Given the description of an element on the screen output the (x, y) to click on. 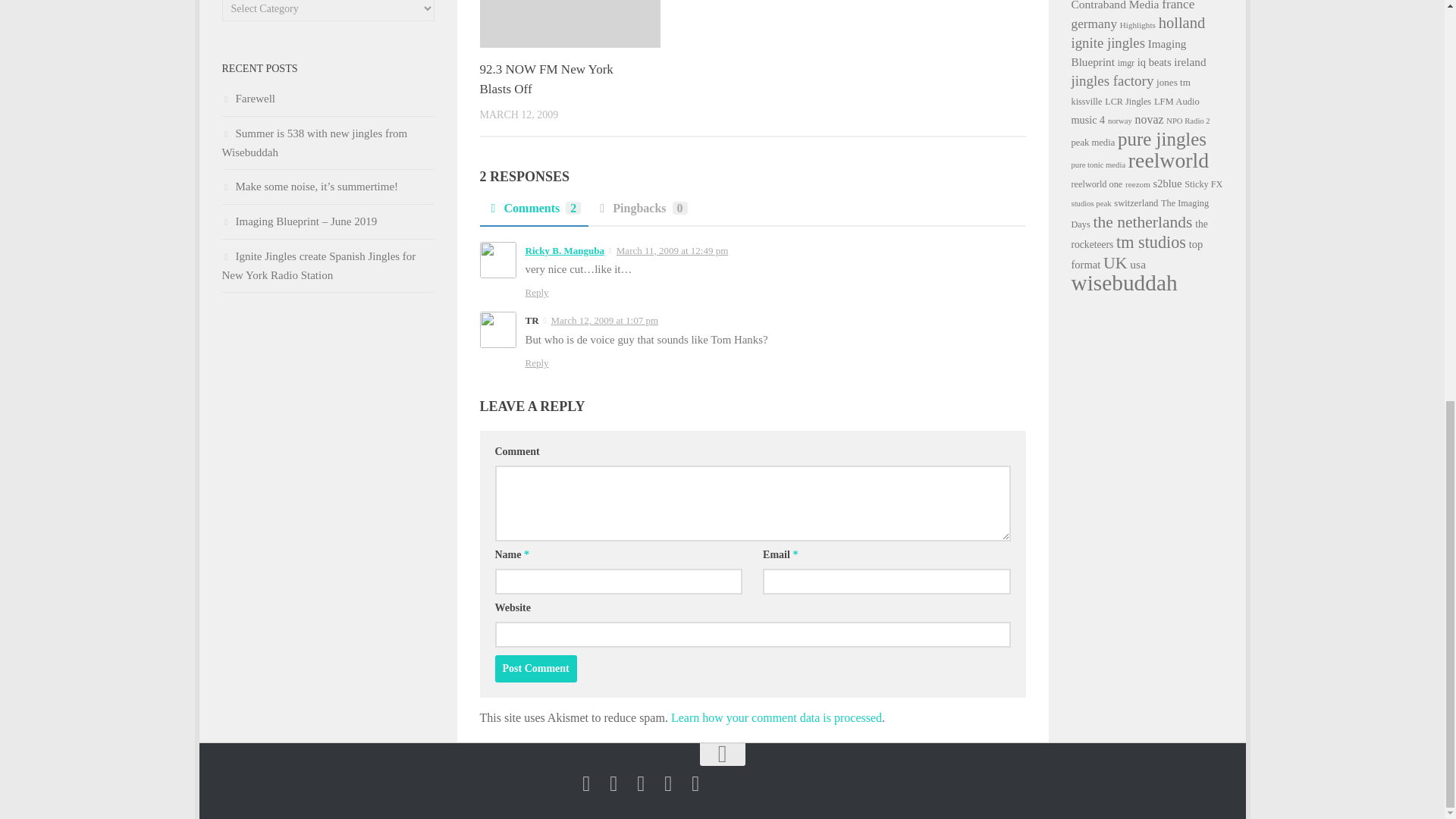
Reply (536, 362)
Comments2 (533, 212)
92.3 NOW FM New York Blasts Off (545, 79)
Ricky B. Manguba (564, 250)
Permalink to 92.3 NOW FM New York Blasts Off (545, 79)
Follow us on Twitter-square (613, 783)
Post Comment (535, 668)
Post Comment (535, 668)
March 11, 2009 at 12:49 pm (672, 250)
Reply (536, 292)
Learn how your comment data is processed (776, 717)
March 12, 2009 at 1:07 pm (604, 319)
Follow us on Facebook (585, 783)
Pingbacks0 (641, 212)
Follow us on Soundcloud (640, 783)
